Given the description of an element on the screen output the (x, y) to click on. 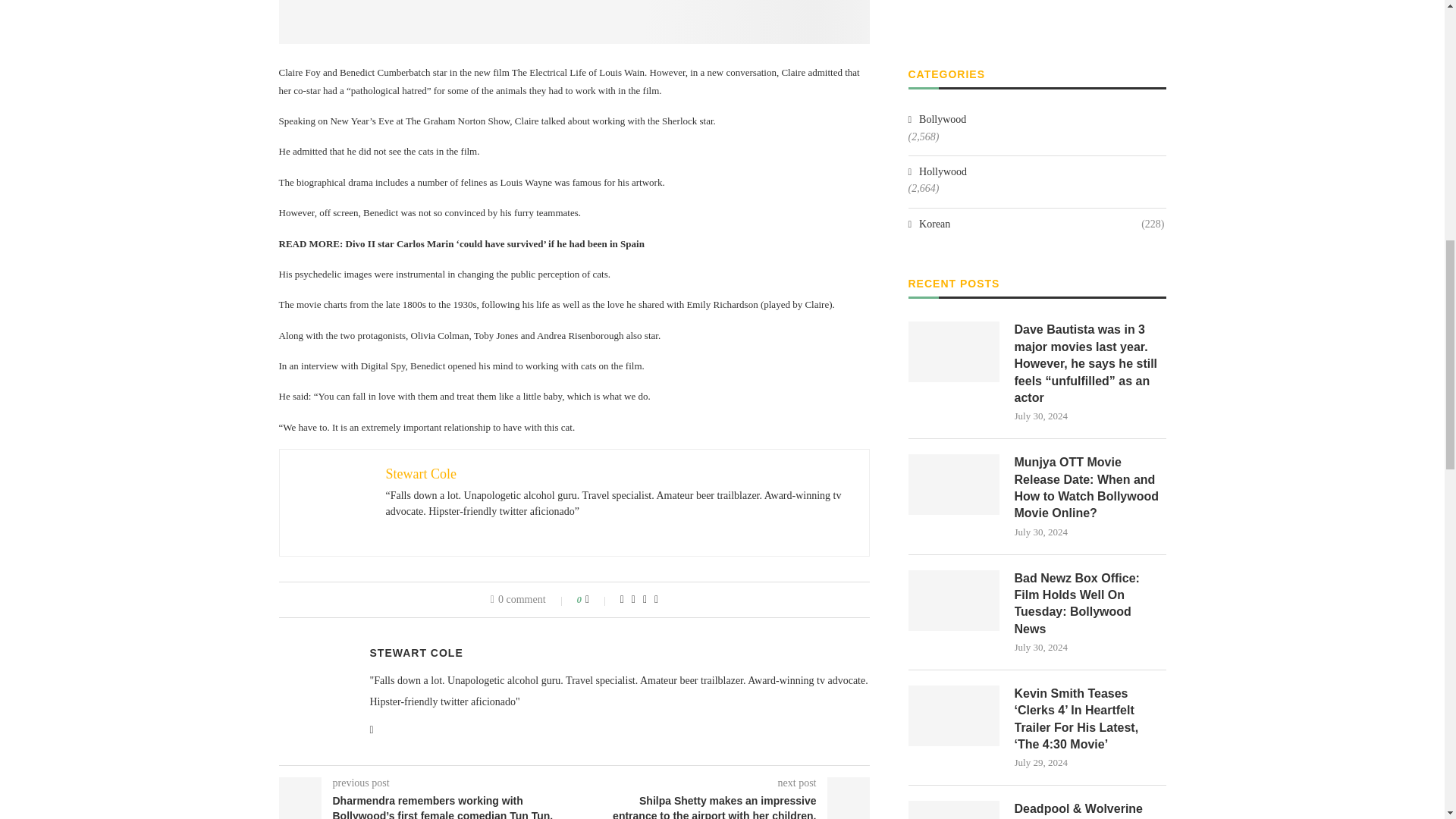
Stewart Cole (420, 473)
Author Stewart Cole (416, 653)
STEWART COLE (416, 653)
Like (597, 599)
